Given the description of an element on the screen output the (x, y) to click on. 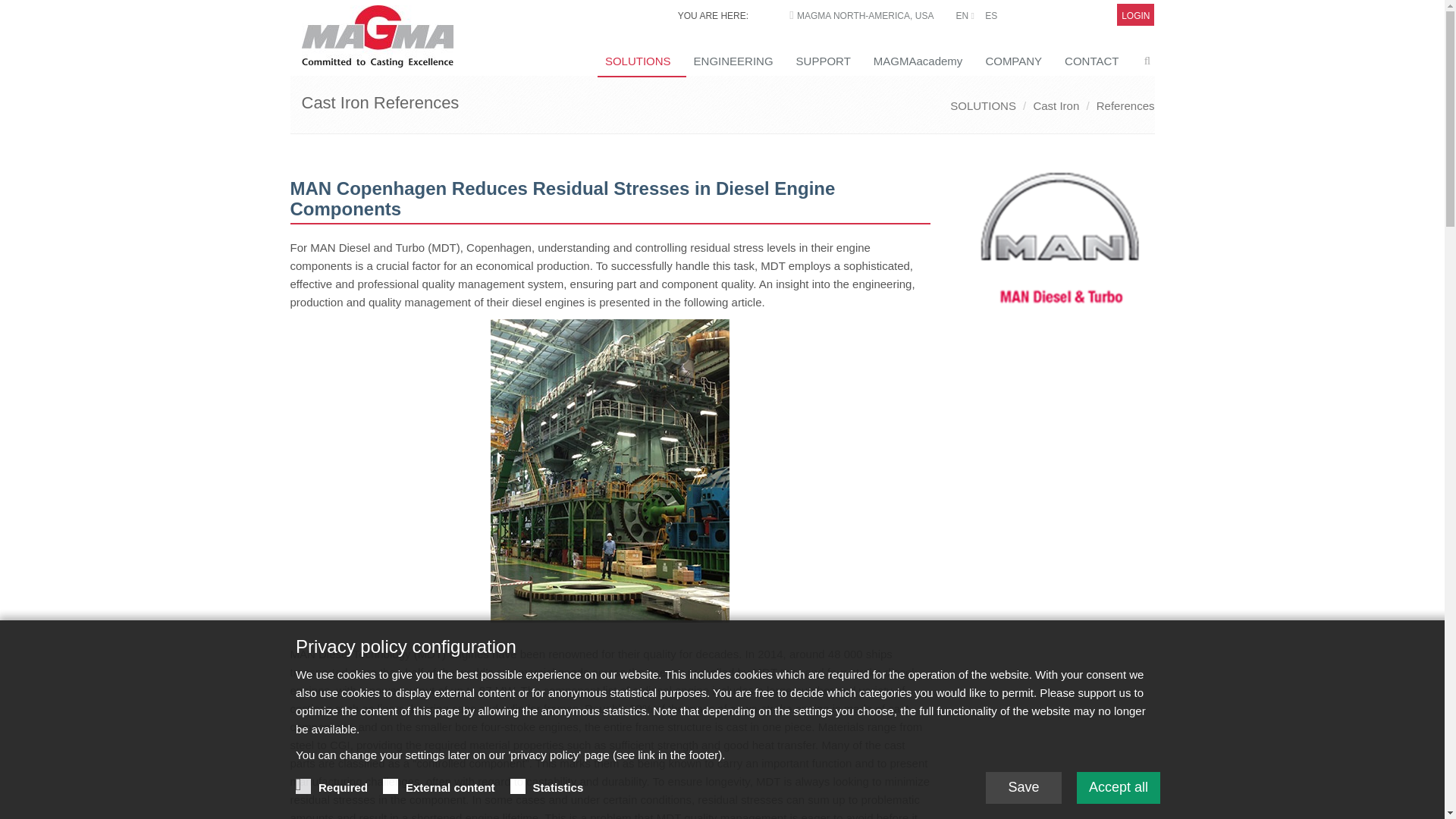
EN  (965, 15)
MAGMA NORTH-AMERICA, USA (864, 15)
ES (991, 15)
LOGIN (1135, 15)
